Given the description of an element on the screen output the (x, y) to click on. 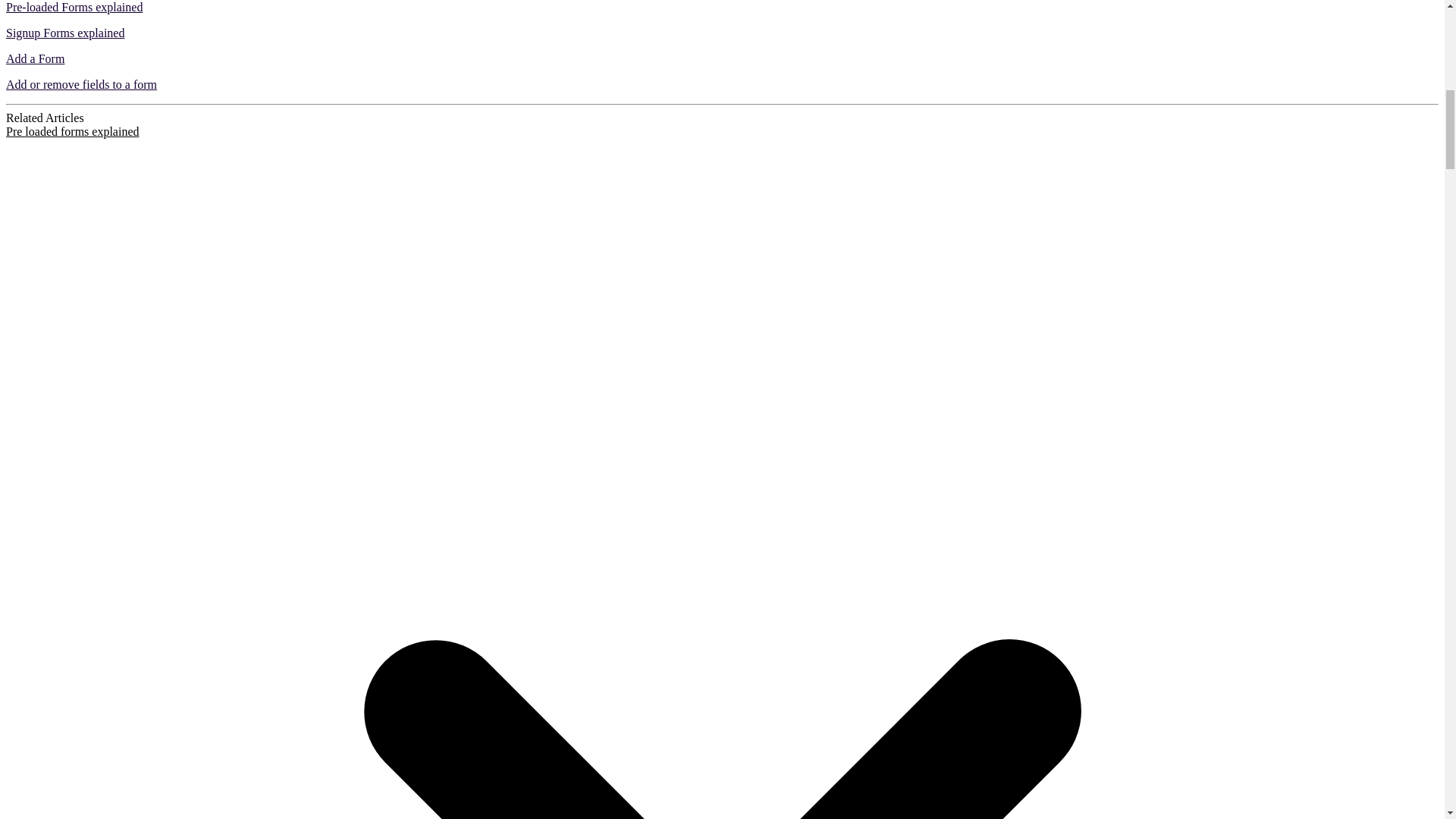
Signup Forms explained (64, 32)
Add a Form (34, 58)
Pre-loaded Forms explained (73, 6)
Add or remove fields to a form (81, 83)
